Given the description of an element on the screen output the (x, y) to click on. 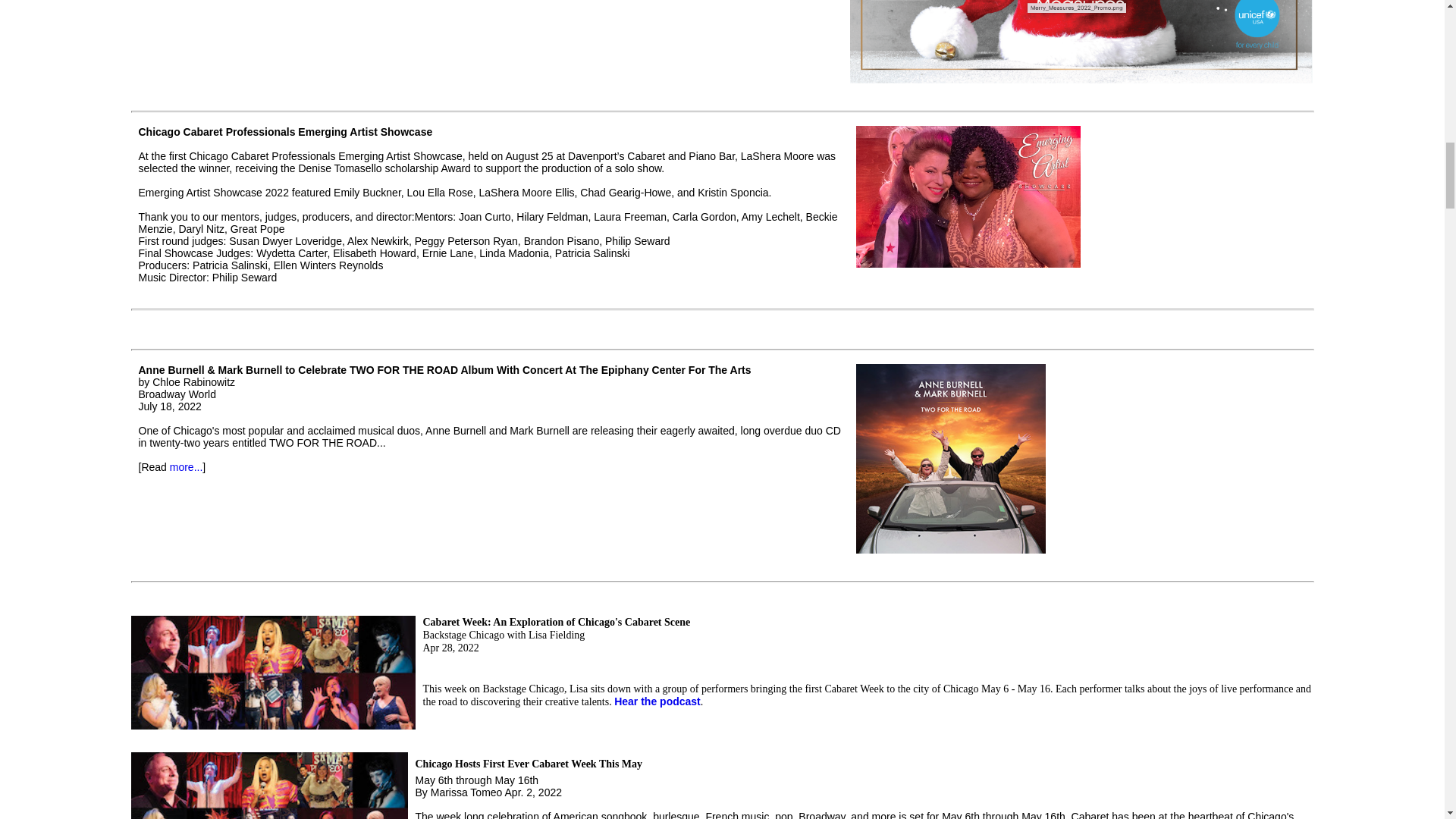
.png (1080, 43)
